Given the description of an element on the screen output the (x, y) to click on. 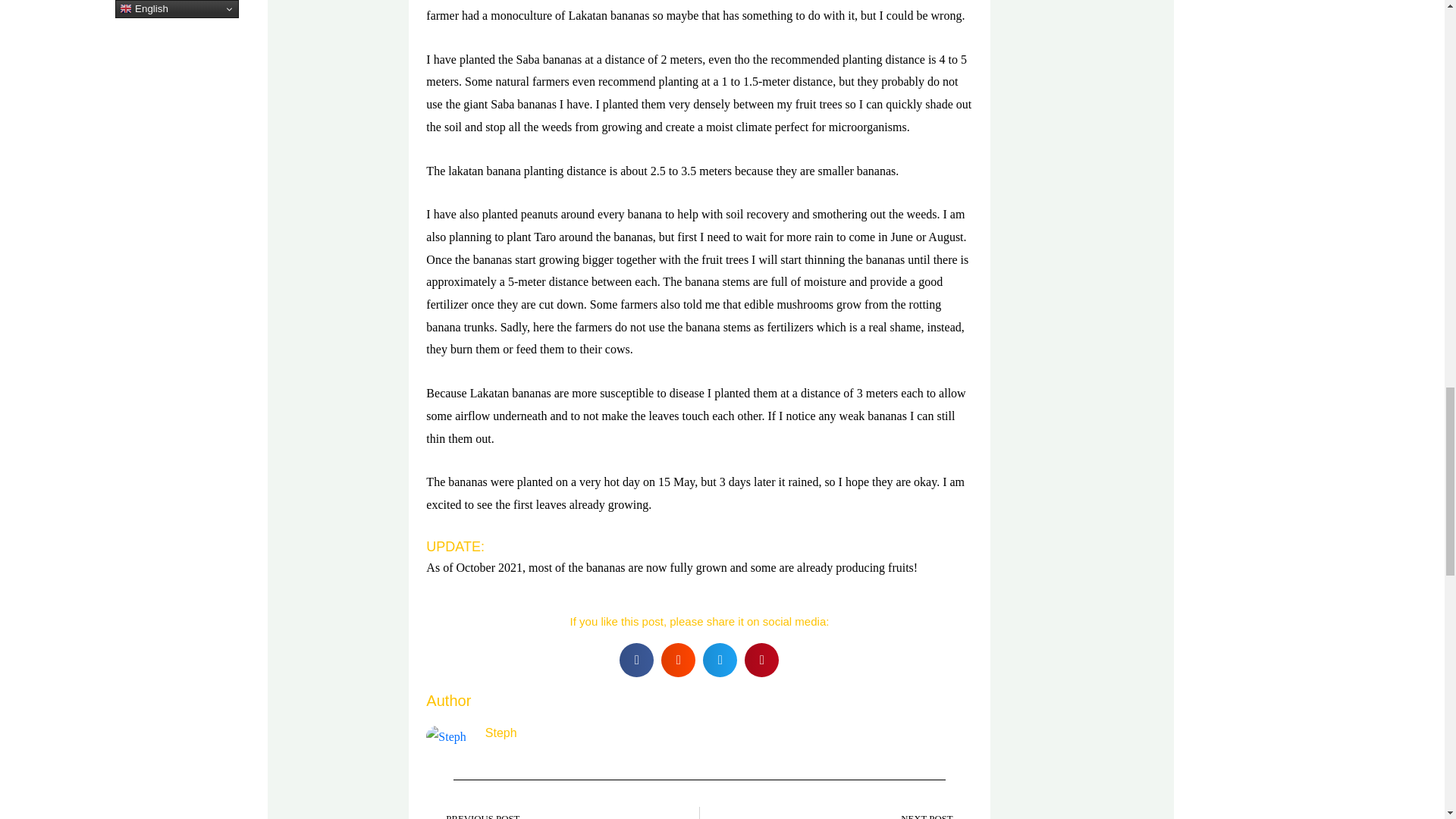
Steph (728, 732)
